Given the description of an element on the screen output the (x, y) to click on. 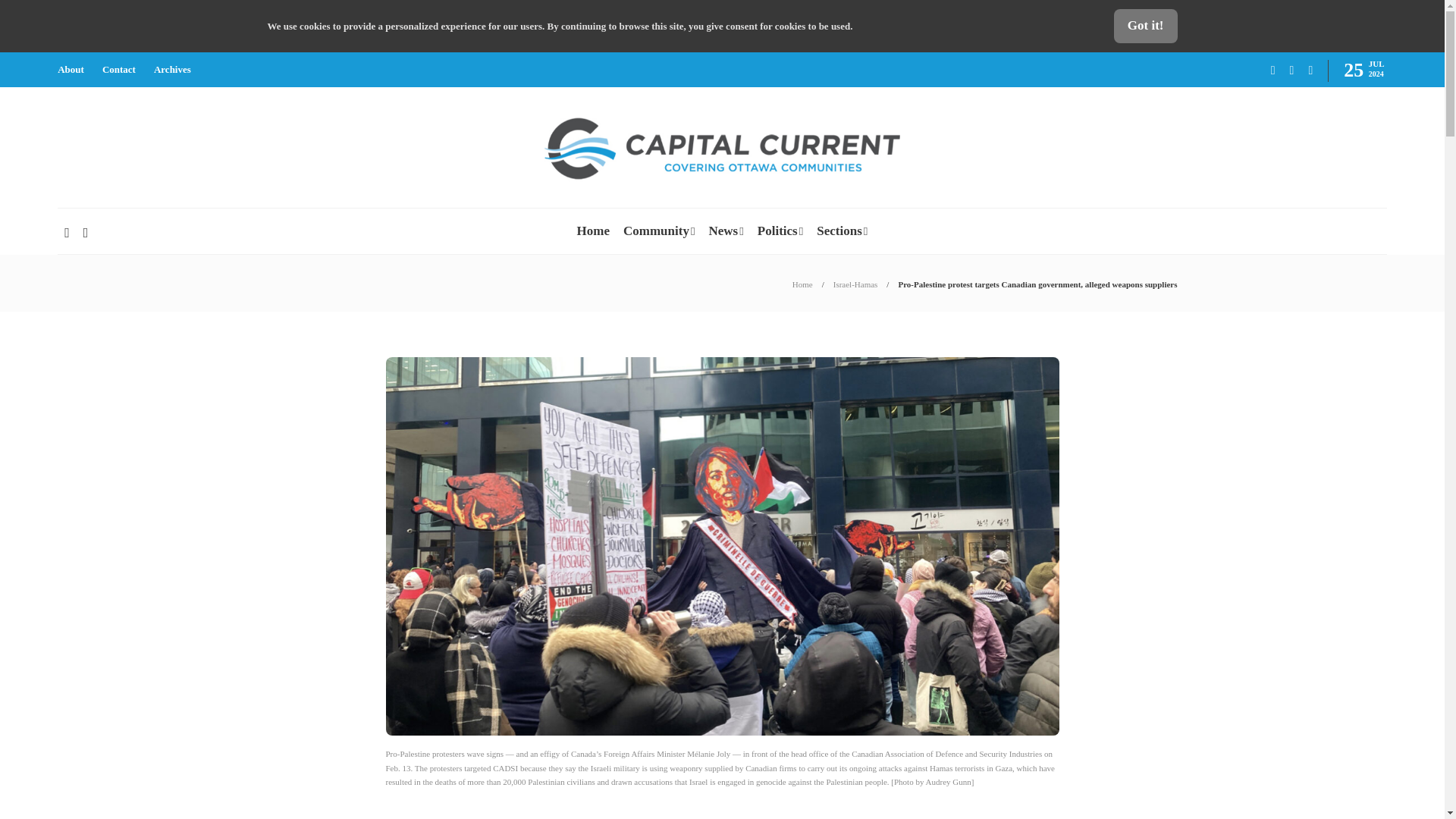
Home (802, 284)
Got it! (1145, 26)
